Given the description of an element on the screen output the (x, y) to click on. 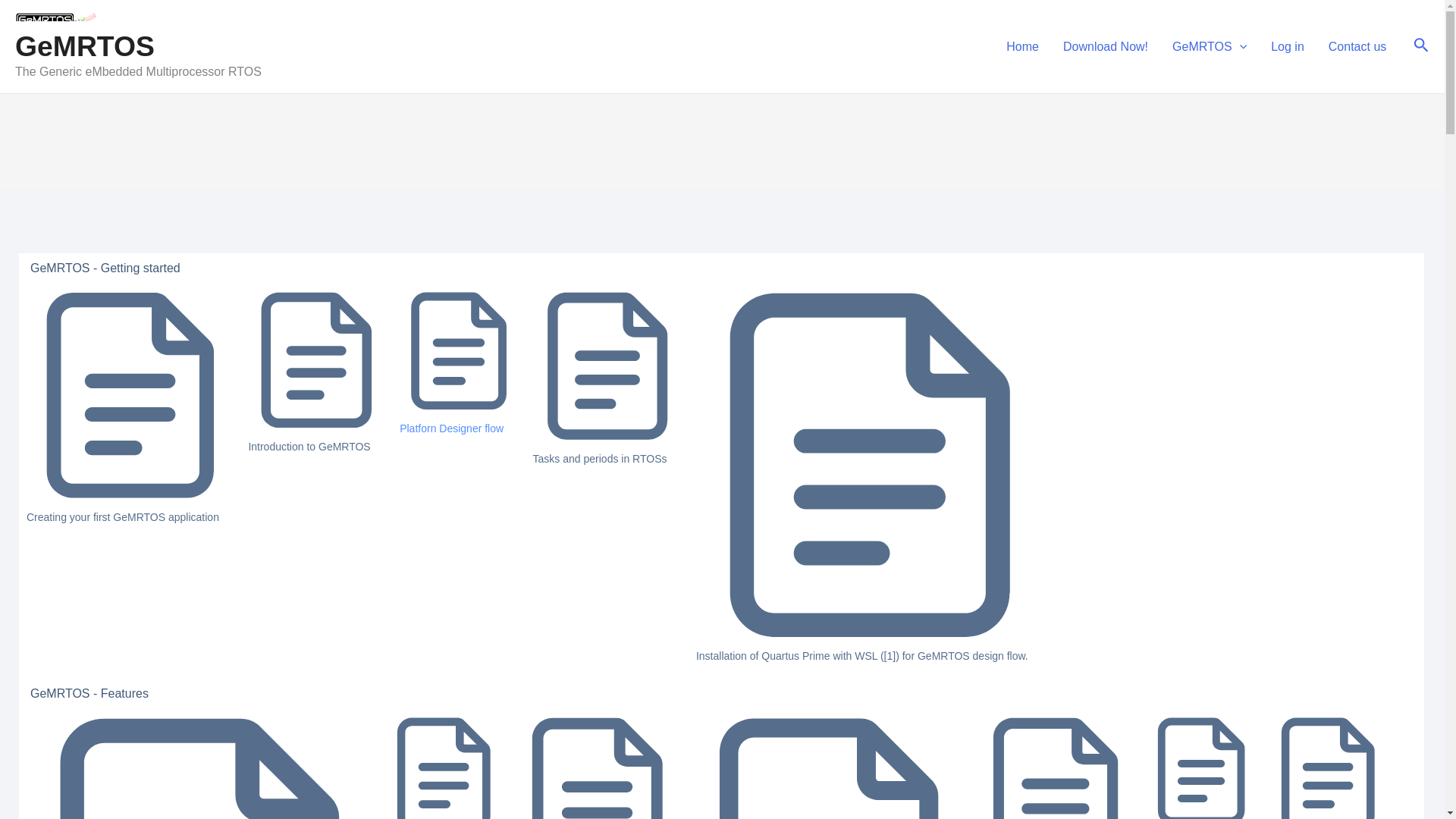
GeMRTOS (1209, 46)
Home (1022, 46)
GeMRTOS (84, 46)
Download Now! (1105, 46)
Contact us (1356, 46)
Log in (1287, 46)
